Given the description of an element on the screen output the (x, y) to click on. 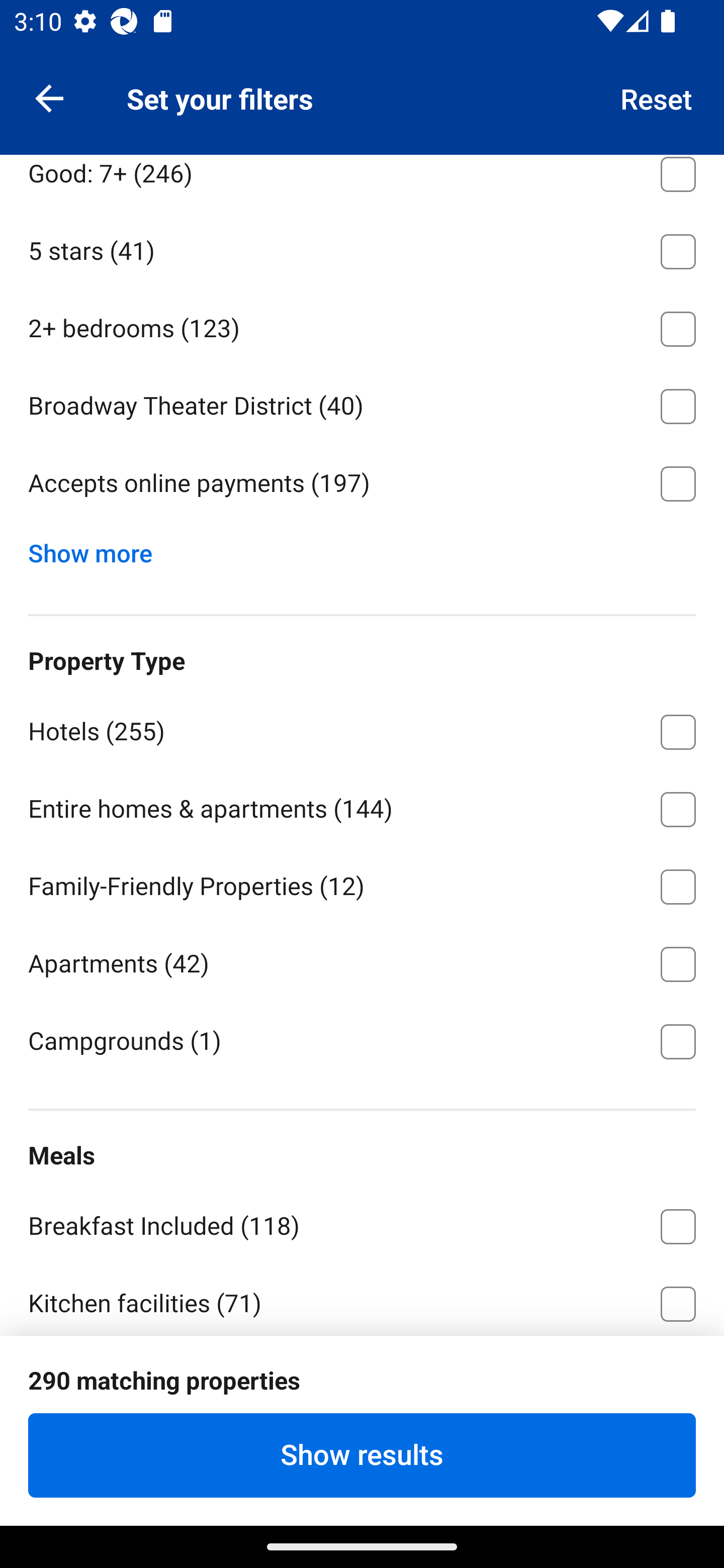
Navigate up (49, 97)
Reset (656, 97)
Good: 7+ ⁦(246) (361, 182)
5 stars ⁦(41) (361, 248)
2+ bedrooms ⁦(123) (361, 324)
Broadway Theater District ⁦(40) (361, 402)
Accepts online payments ⁦(197) (361, 484)
Show more (97, 549)
Hotels ⁦(255) (361, 727)
Entire homes & apartments ⁦(144) (361, 805)
Family-Friendly Properties ⁦(12) (361, 883)
Apartments ⁦(42) (361, 960)
Campgrounds ⁦(1) (361, 1040)
Breakfast Included ⁦(118) (361, 1222)
Kitchen facilities ⁦(71) (361, 1298)
Show results (361, 1454)
